Given the description of an element on the screen output the (x, y) to click on. 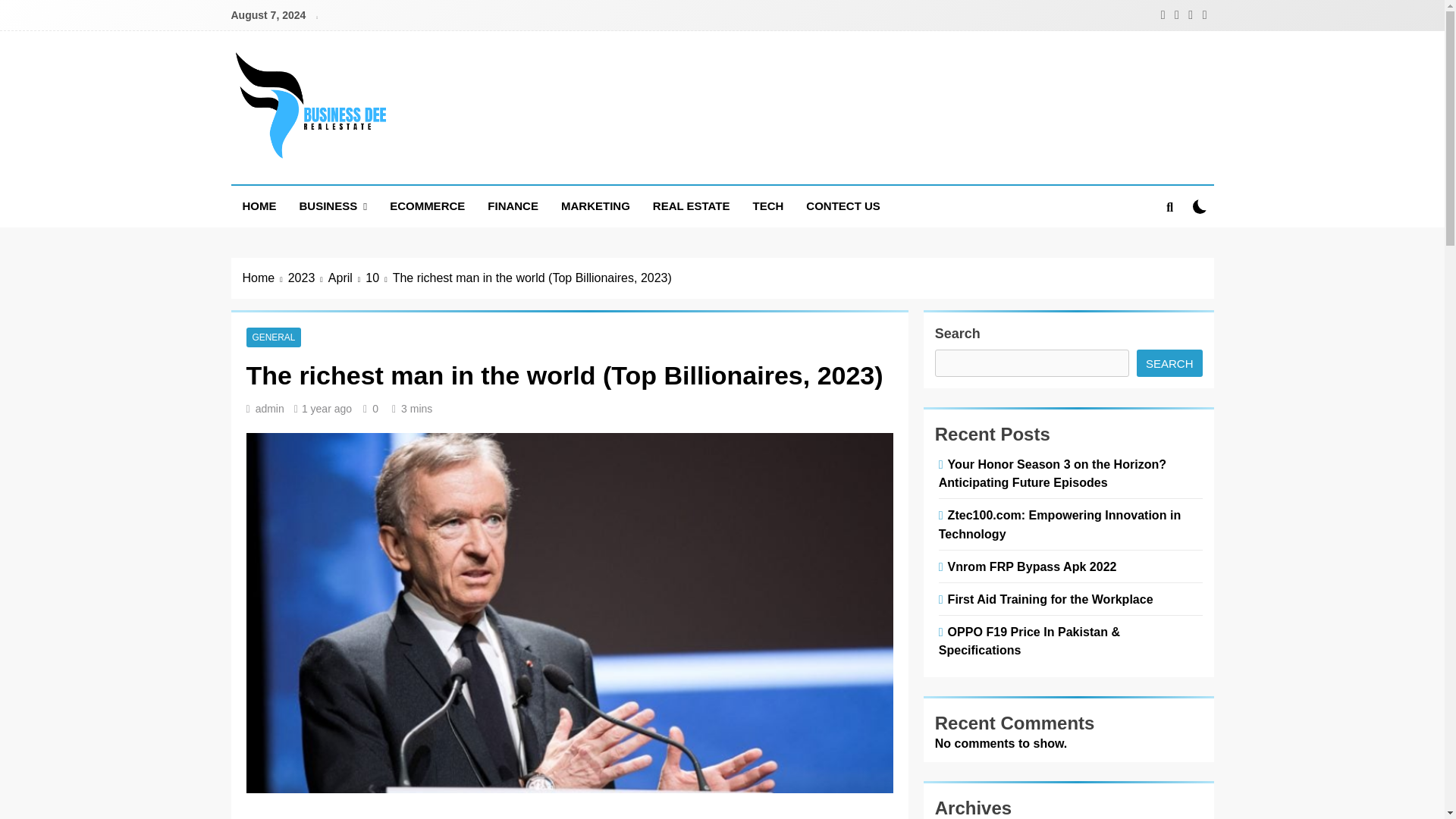
MARKETING (596, 205)
FINANCE (513, 205)
ECOMMERCE (427, 205)
Home (265, 278)
admin (269, 408)
BUSINESS (333, 206)
CONTECT US (842, 205)
2023 (308, 278)
REAL ESTATE (691, 205)
HOME (258, 205)
April (347, 278)
1 year ago (326, 408)
BUSINESSDEE (352, 181)
10 (378, 278)
on (1199, 206)
